Given the description of an element on the screen output the (x, y) to click on. 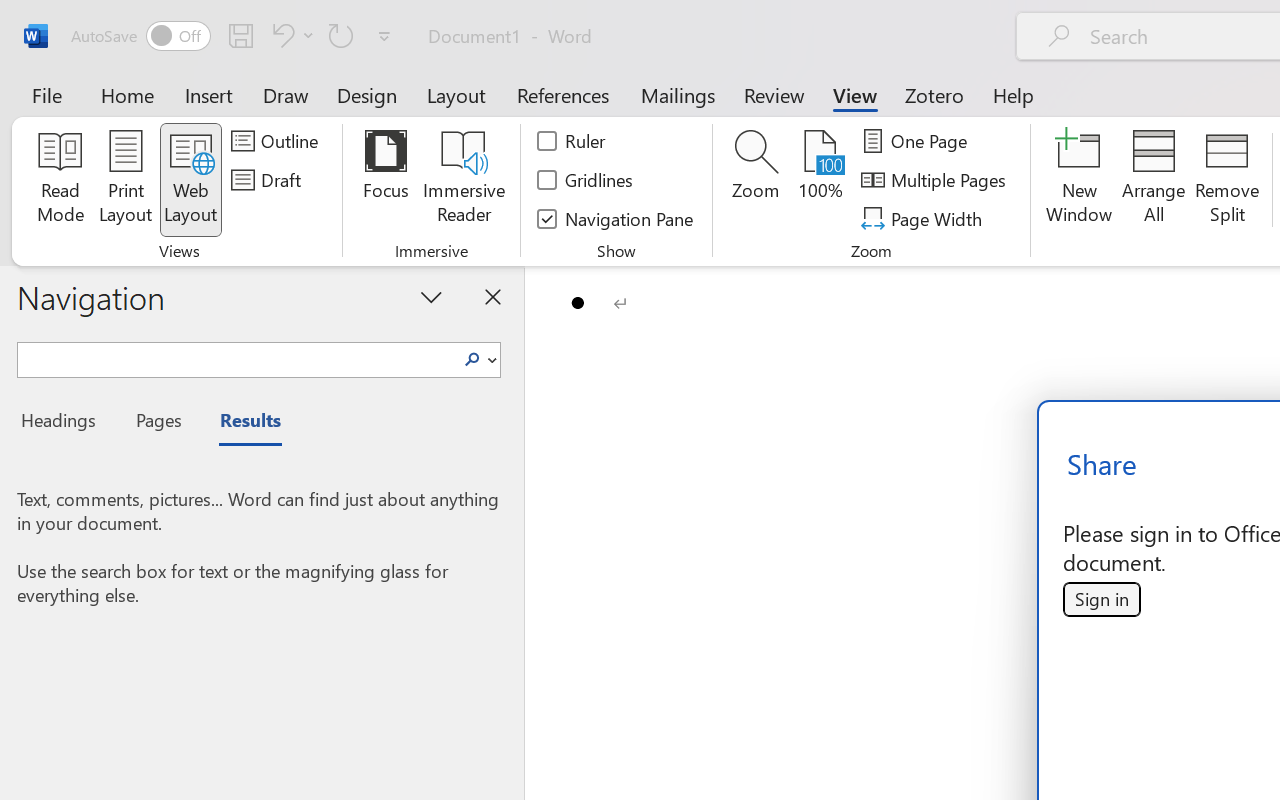
Zoom... (755, 179)
Page Width (924, 218)
Immersive Reader (464, 179)
Arrange All (1153, 179)
New Window (1079, 179)
Results (240, 423)
